Given the description of an element on the screen output the (x, y) to click on. 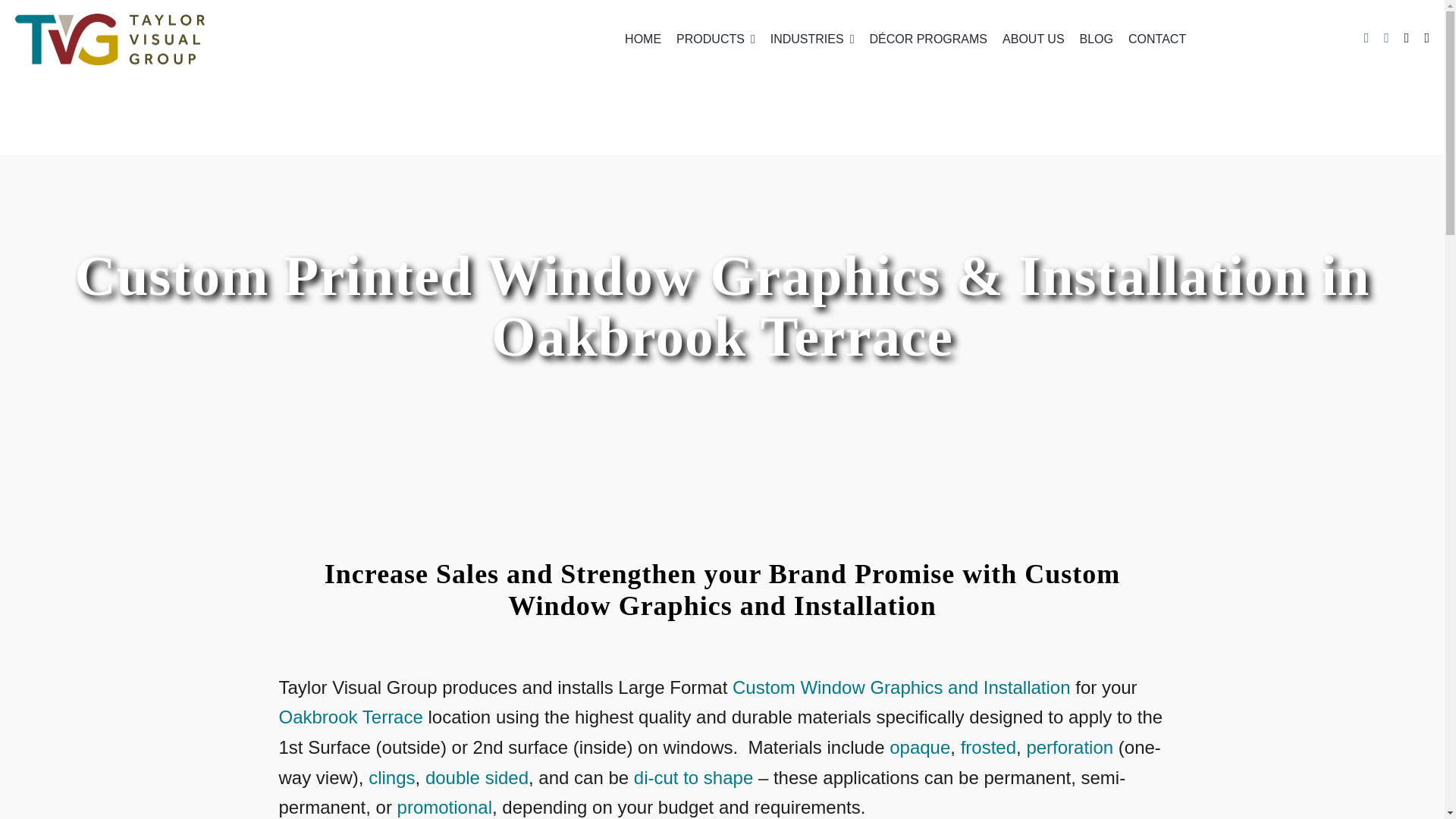
BLOG (1096, 39)
HOME (642, 39)
Custom Window Graphics and Installation (901, 687)
CONTACT (1157, 39)
INDUSTRIES (811, 39)
ABOUT US (1032, 39)
PRODUCTS (715, 39)
